Given the description of an element on the screen output the (x, y) to click on. 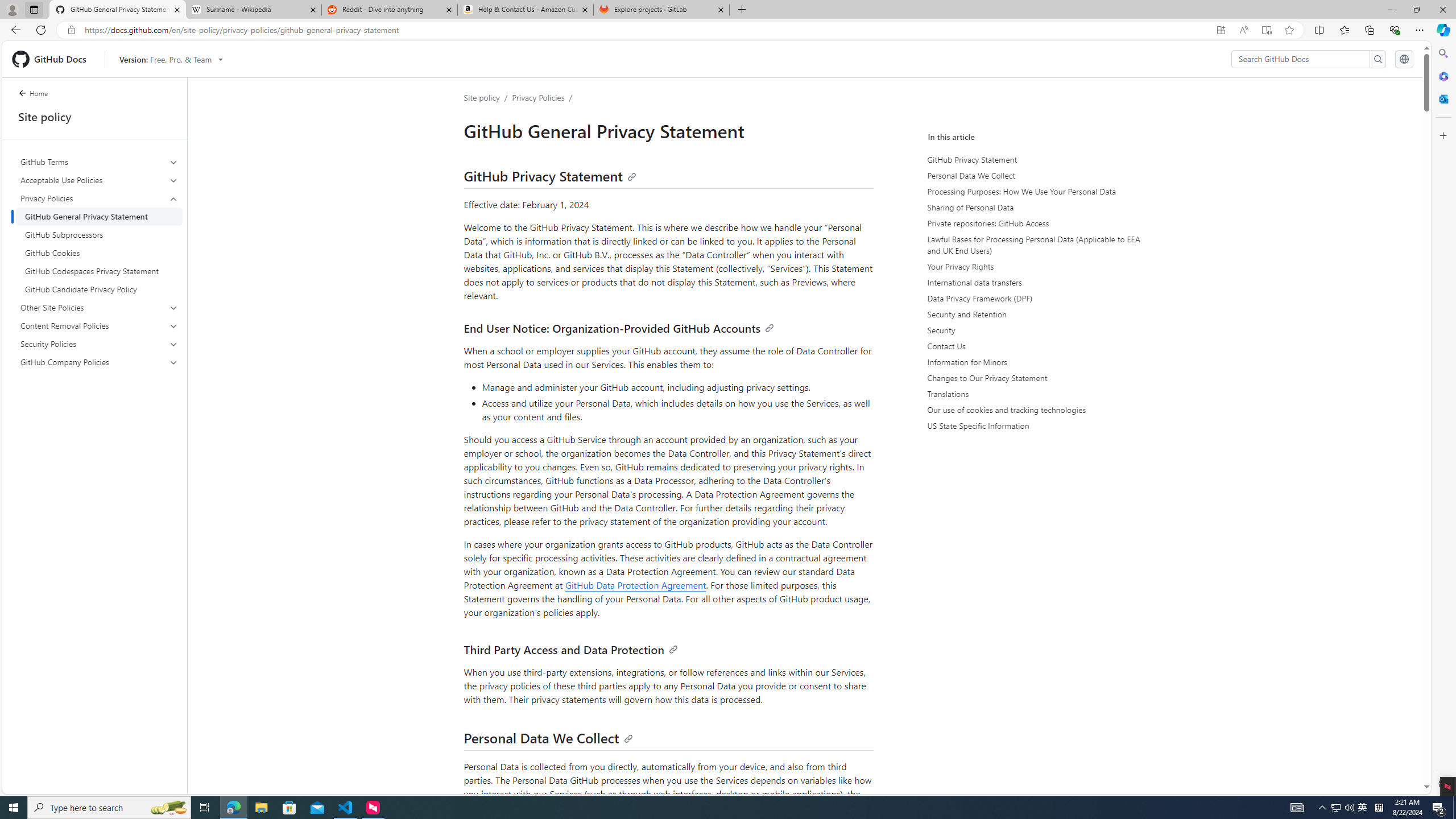
Site policy/ (487, 97)
GitHub Codespaces Privacy Statement (99, 271)
Sharing of Personal Data (1032, 207)
GitHub Cookies (99, 253)
Privacy Policies/ (544, 97)
Select language: current language is English (1403, 58)
Other Site Policies (99, 307)
Third Party Access and Data Protection (570, 649)
